Given the description of an element on the screen output the (x, y) to click on. 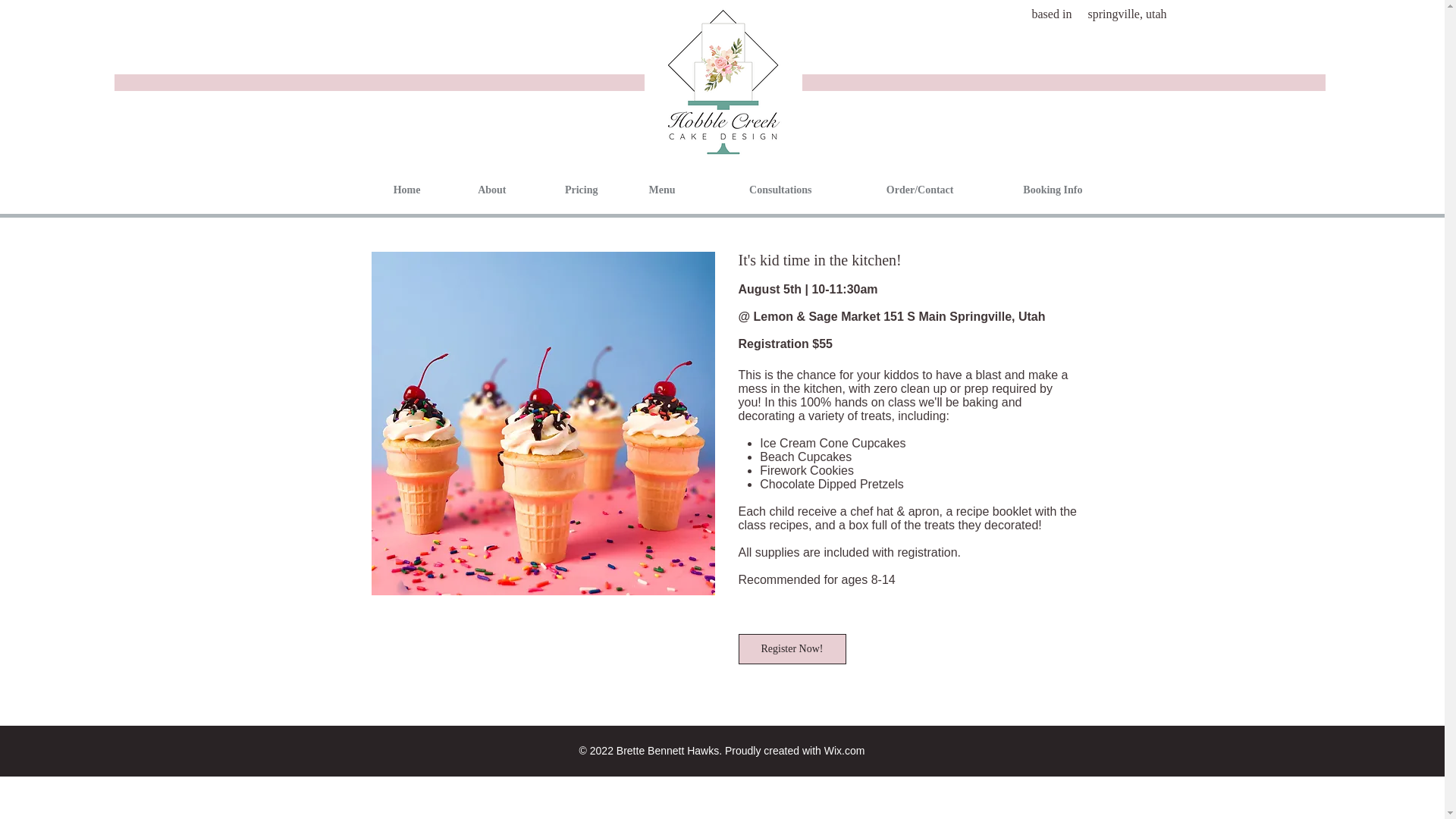
About (475, 190)
Register Now! (791, 648)
Home (390, 190)
Wix.com (844, 750)
Menu (648, 190)
Consultations (755, 190)
